Given the description of an element on the screen output the (x, y) to click on. 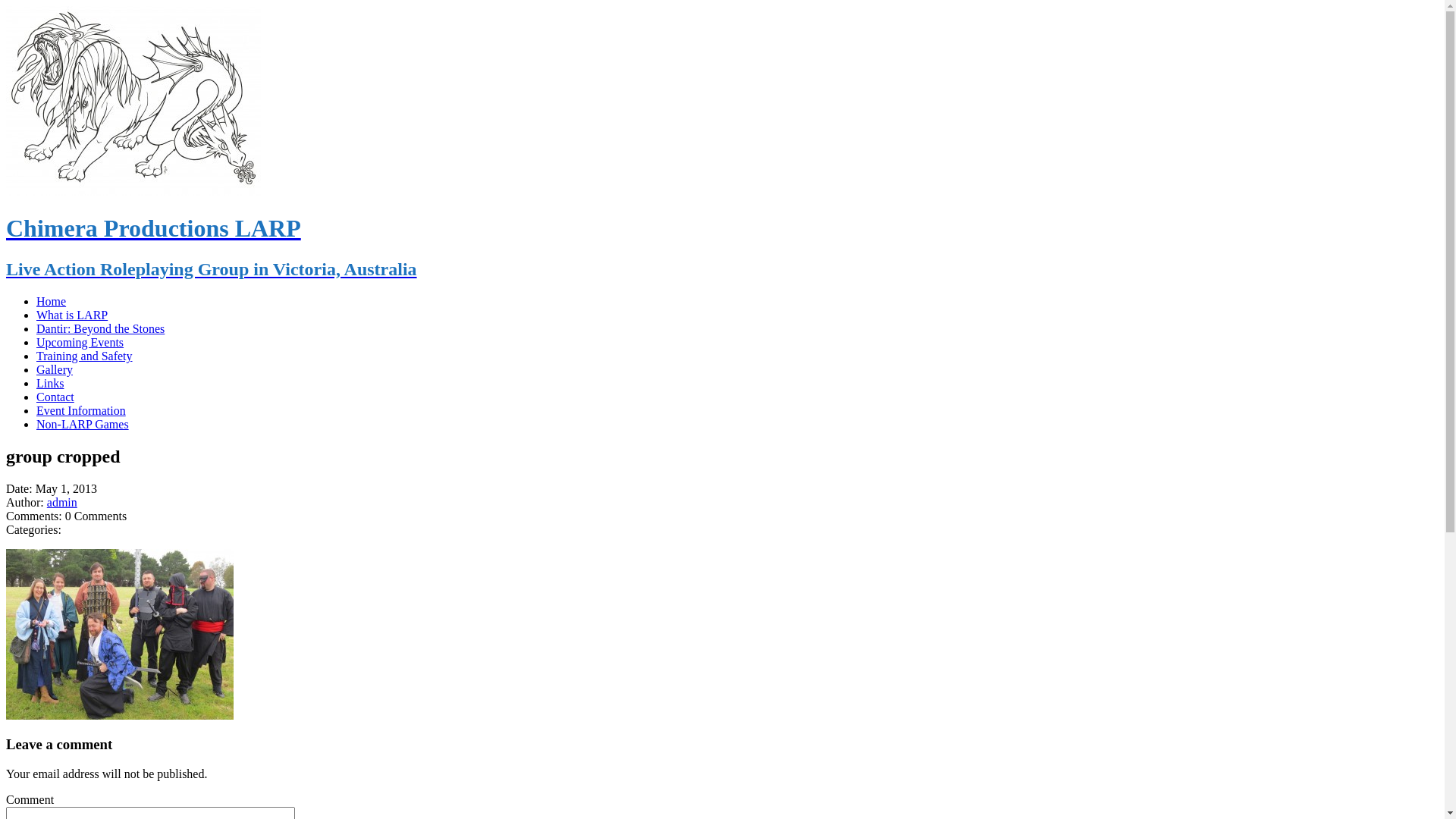
Home Element type: text (50, 300)
Event Information Element type: text (80, 410)
Non-LARP Games Element type: text (82, 423)
What is LARP Element type: text (71, 314)
admin Element type: text (62, 501)
Training and Safety Element type: text (84, 355)
Contact Element type: text (55, 396)
Gallery Element type: text (54, 369)
Links Element type: text (49, 382)
Dantir: Beyond the Stones Element type: text (100, 328)
Upcoming Events Element type: text (79, 341)
